Given the description of an element on the screen output the (x, y) to click on. 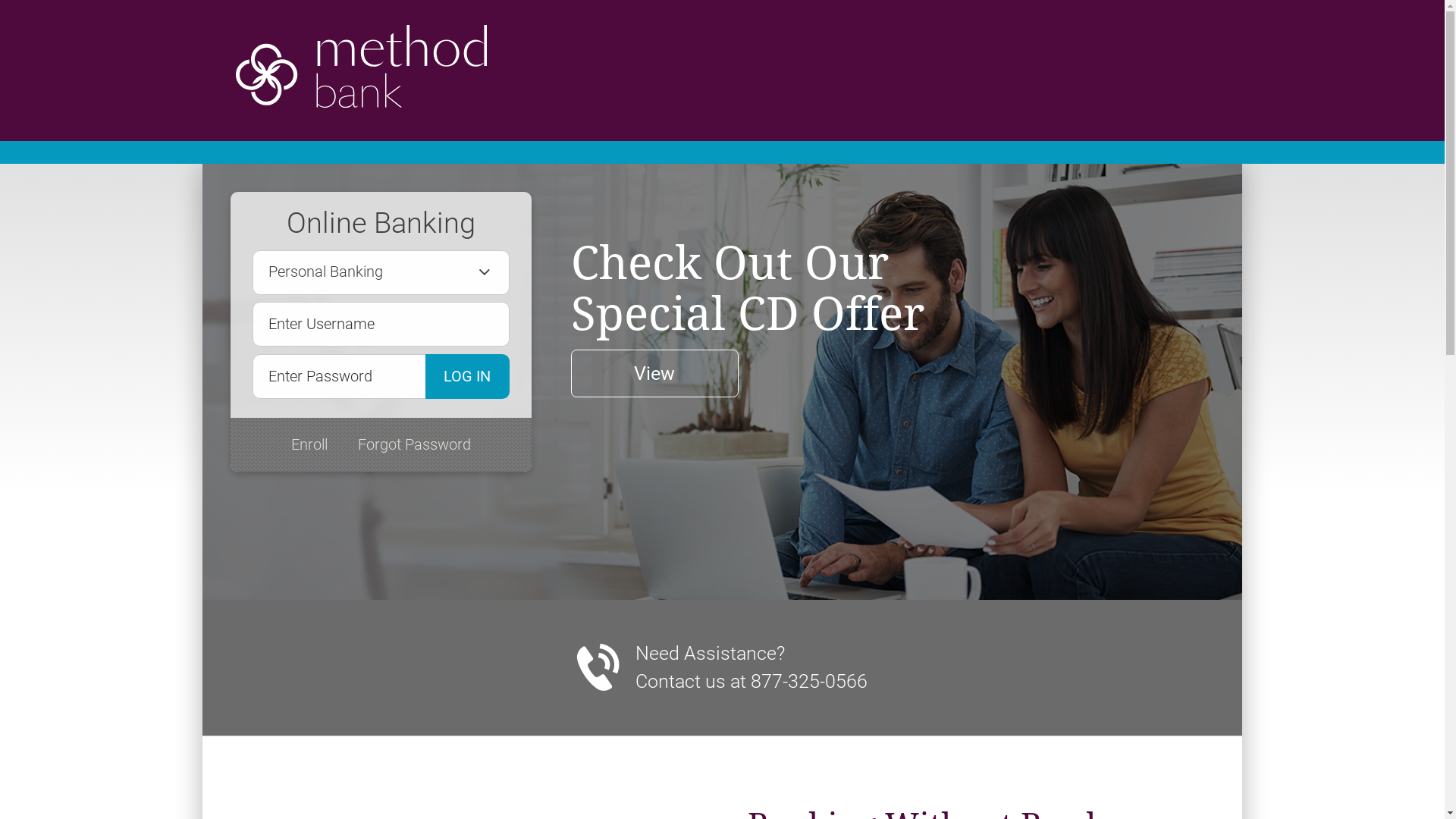
Enroll Element type: text (309, 444)
View Element type: text (654, 373)
LOG IN Element type: text (467, 376)
Need Assistance?
Contact us at 877-325-0566 Element type: text (751, 667)
Forgot Password Element type: text (413, 444)
